Given the description of an element on the screen output the (x, y) to click on. 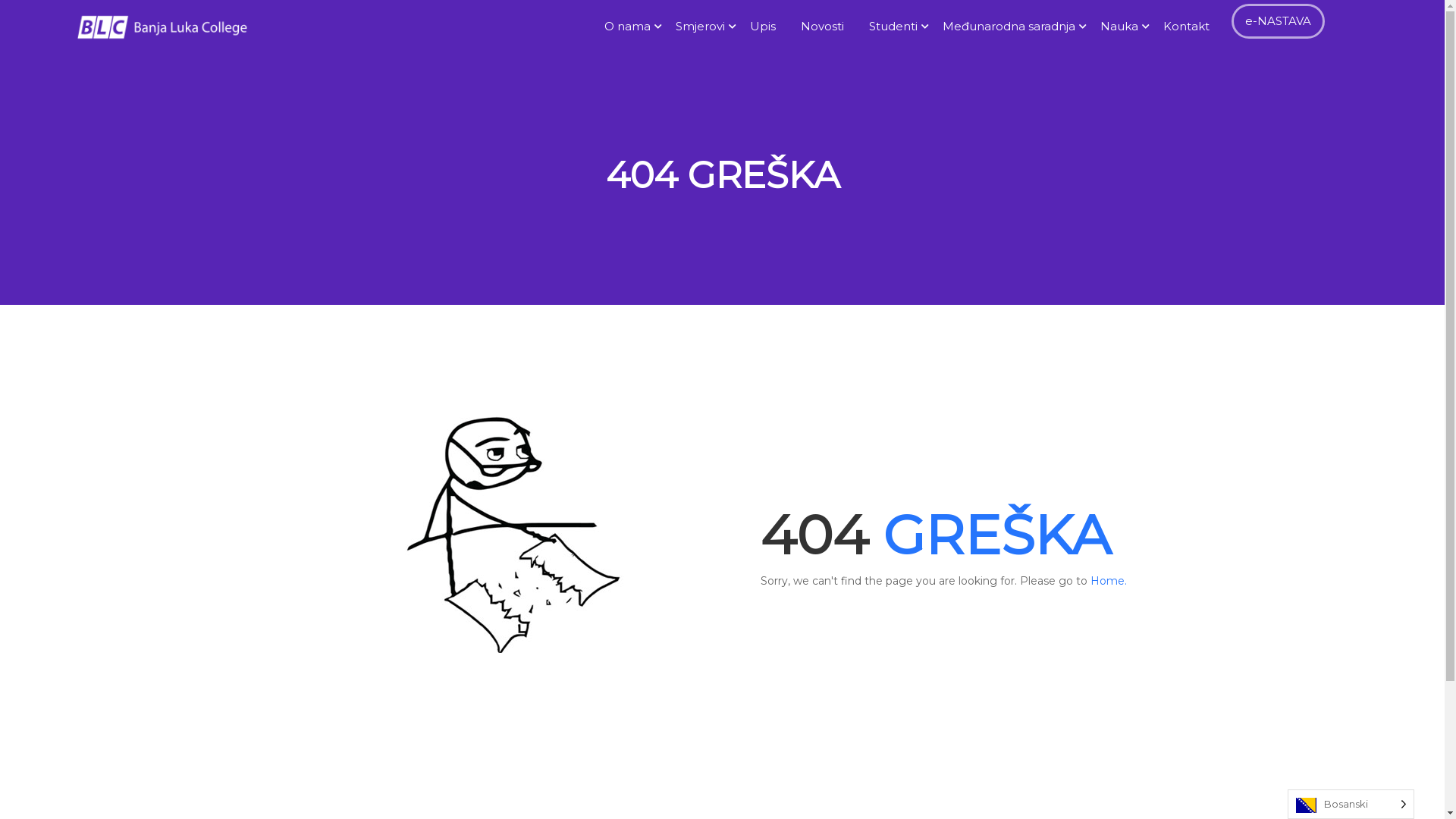
O nama Element type: text (630, 26)
Novosti Element type: text (825, 26)
Studenti Element type: text (896, 26)
Smjerovi Element type: text (703, 26)
Nauka Element type: text (1122, 26)
Home. Element type: text (1108, 580)
Kontakt Element type: text (1189, 26)
Upis Element type: text (766, 26)
e-NASTAVA Element type: text (1277, 20)
